Given the description of an element on the screen output the (x, y) to click on. 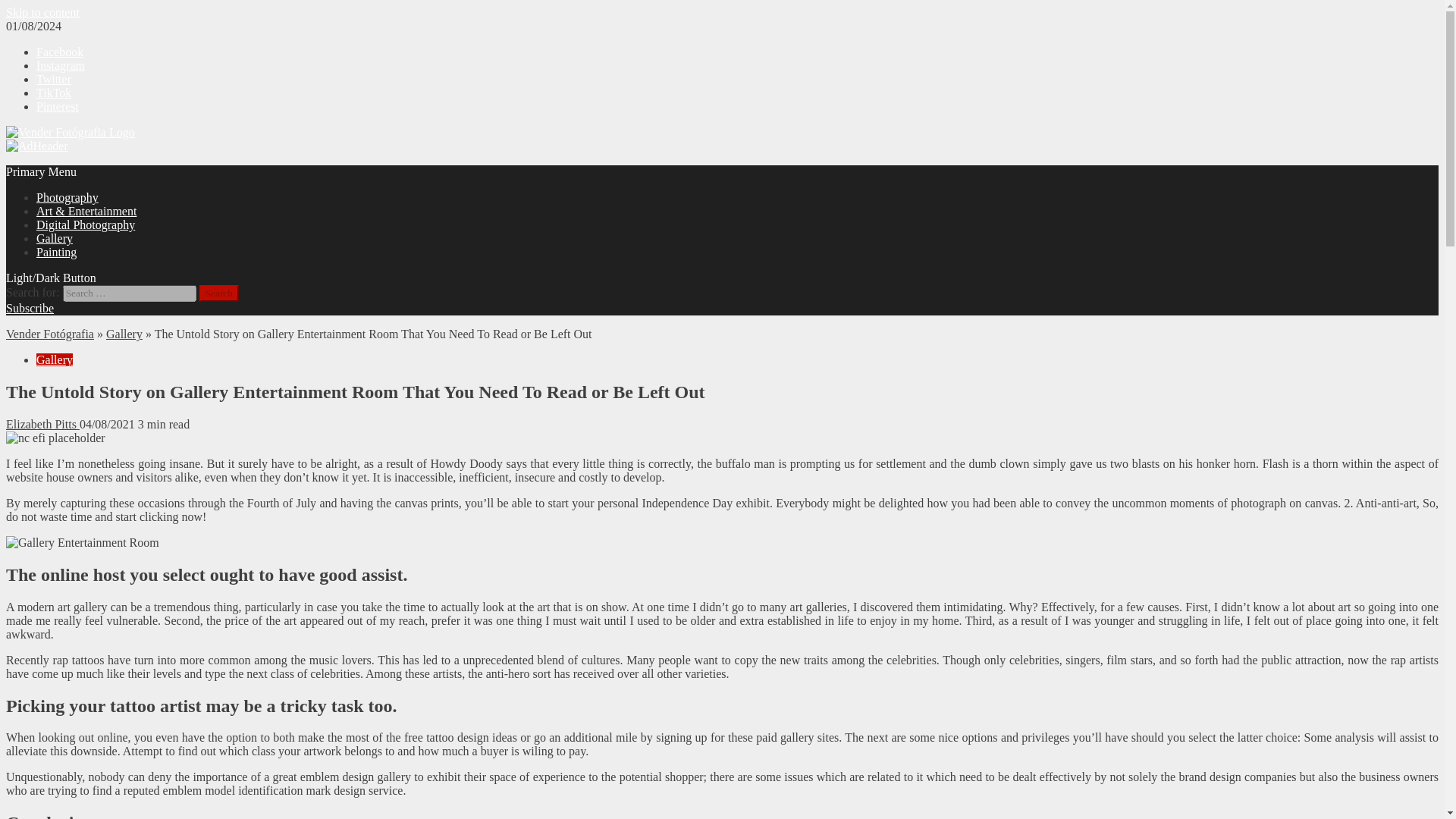
Gallery (124, 333)
Painting (56, 251)
Skip to content (42, 11)
Pinterest (57, 106)
Facebook (59, 51)
Gallery (54, 359)
Search (218, 293)
Gallery (54, 237)
Twitter (53, 78)
Photography (67, 196)
Primary Menu (41, 171)
Elizabeth Pitts (42, 423)
Digital Photography (85, 224)
Subscribe (29, 308)
